Given the description of an element on the screen output the (x, y) to click on. 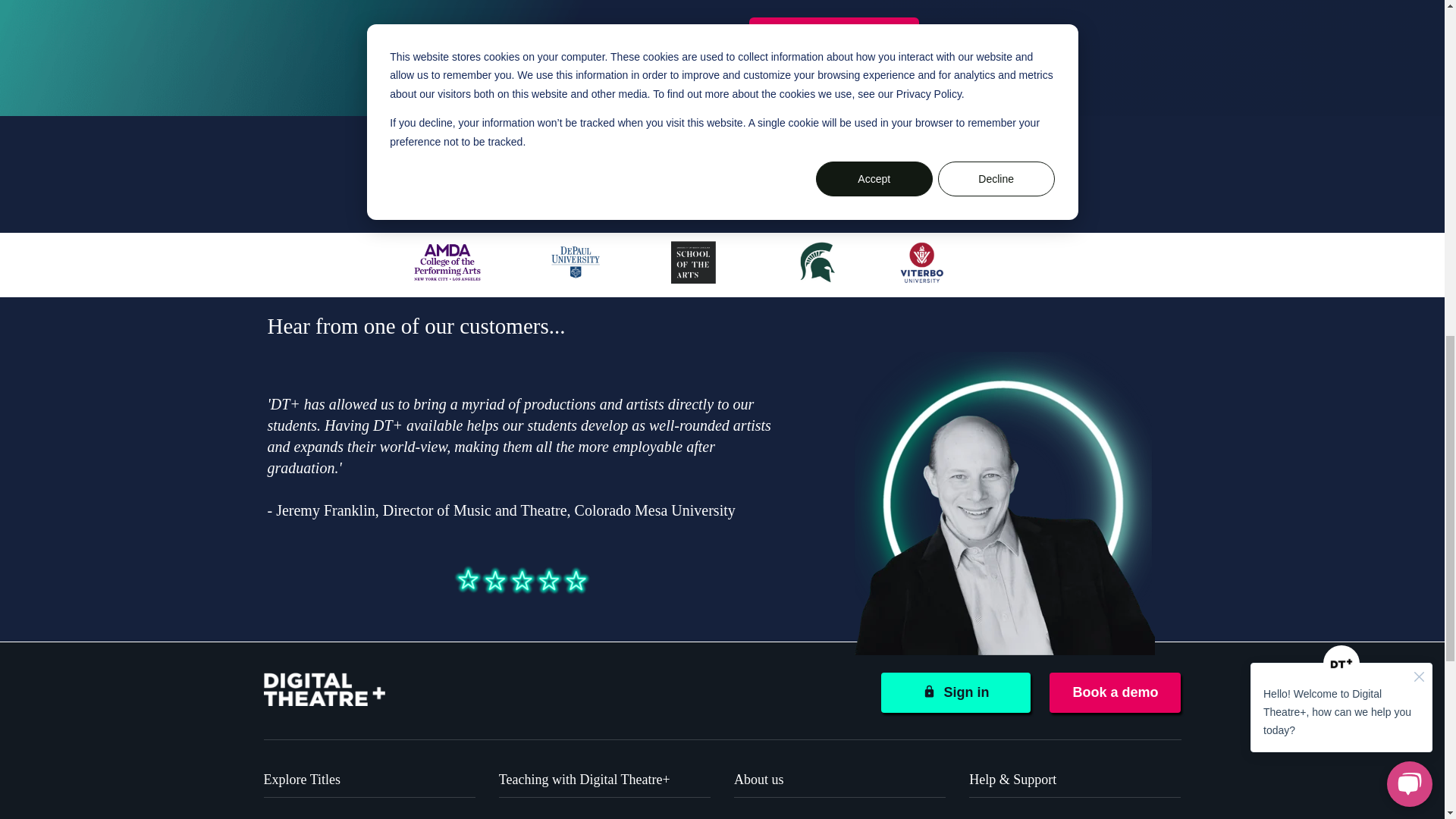
Request a quote (833, 36)
Jeremy Franklin (1002, 503)
Book a demo (1114, 692)
5 stars (520, 580)
Digital Theatre Plus (324, 688)
